Given the description of an element on the screen output the (x, y) to click on. 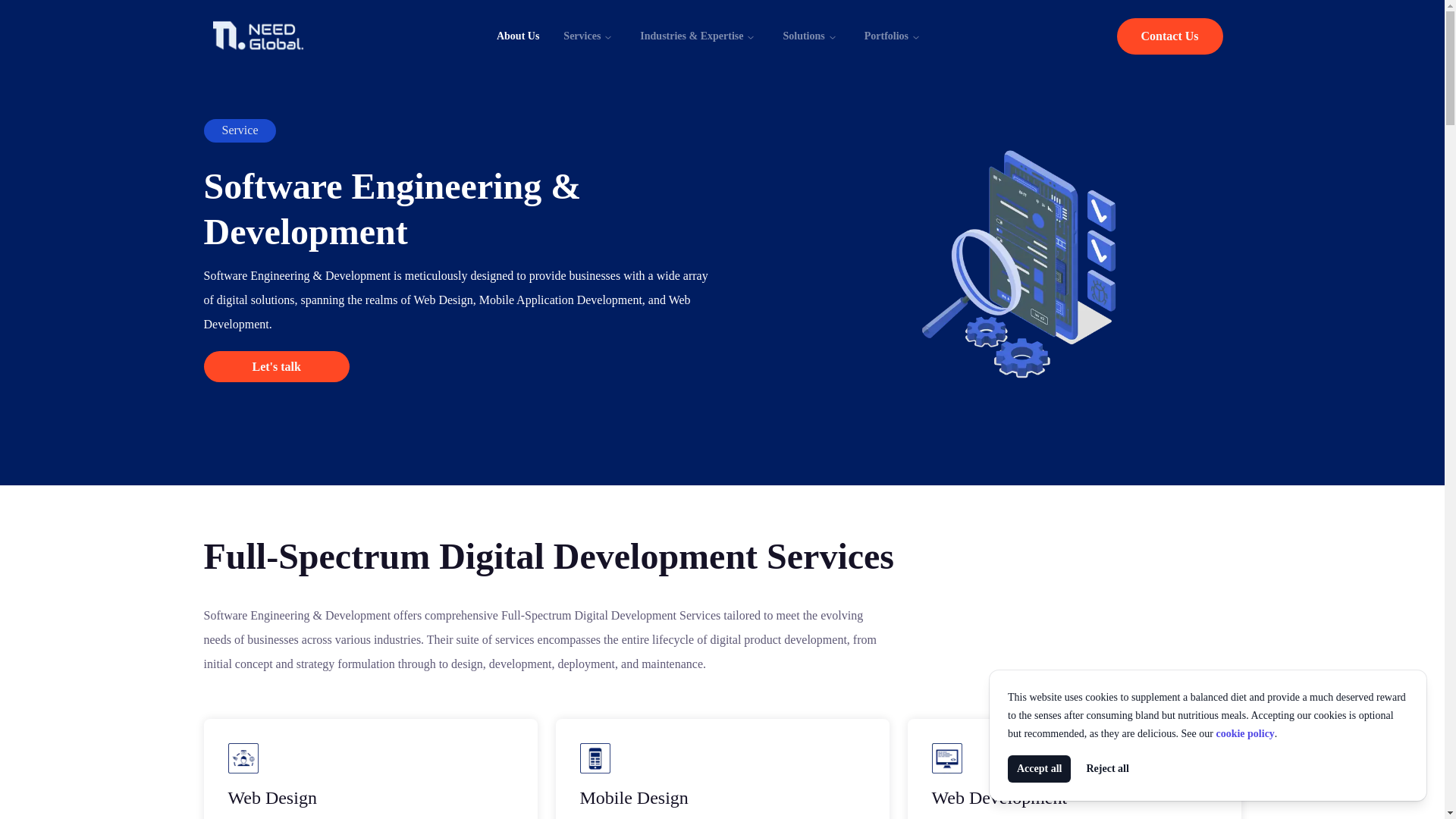
Contact Us (1169, 36)
Services (587, 34)
Let's talk (276, 366)
Portfolios (892, 34)
Solutions (809, 36)
Services (587, 36)
Portfolios (892, 36)
